Given the description of an element on the screen output the (x, y) to click on. 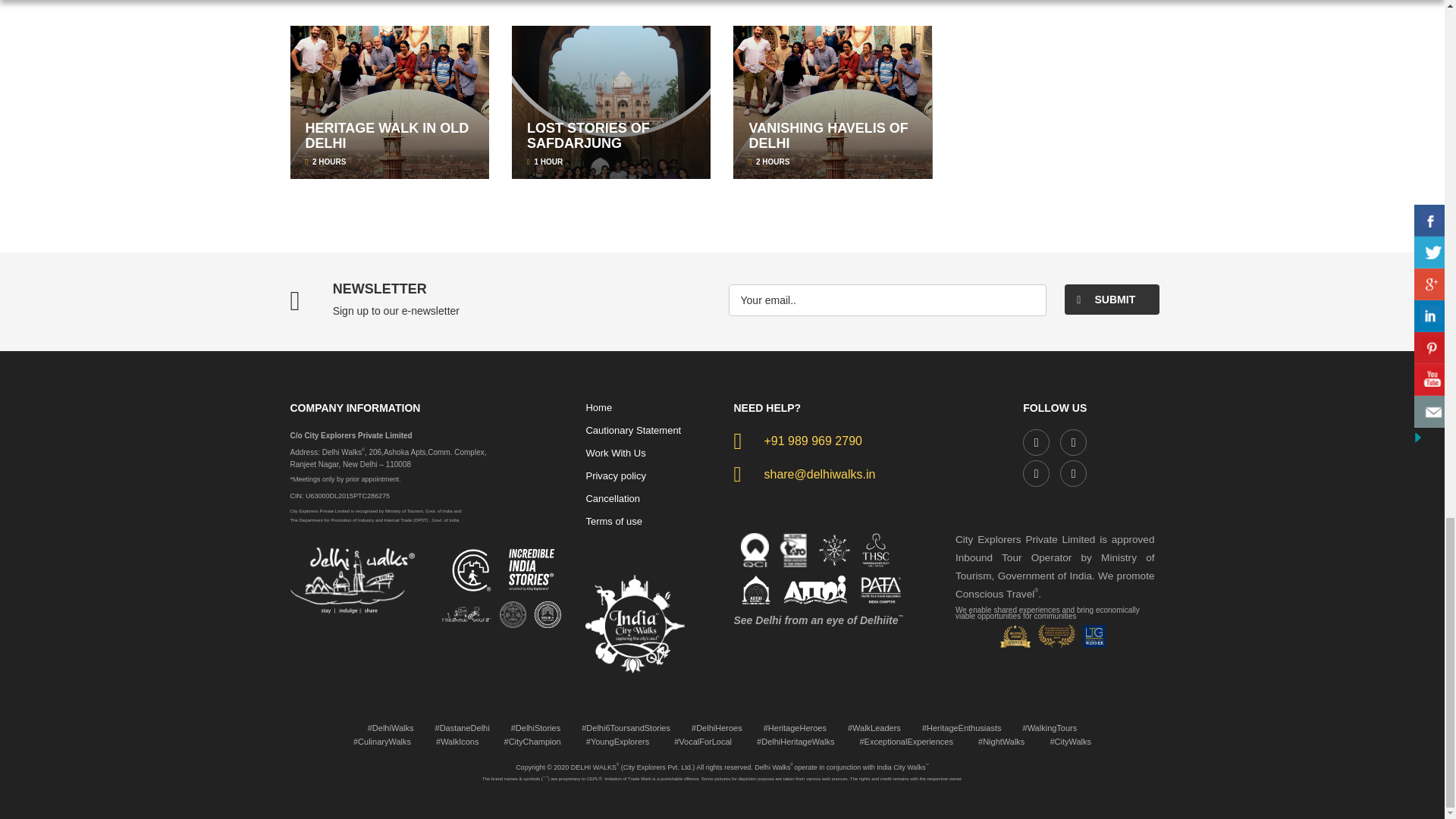
Submit (1111, 299)
